Given the description of an element on the screen output the (x, y) to click on. 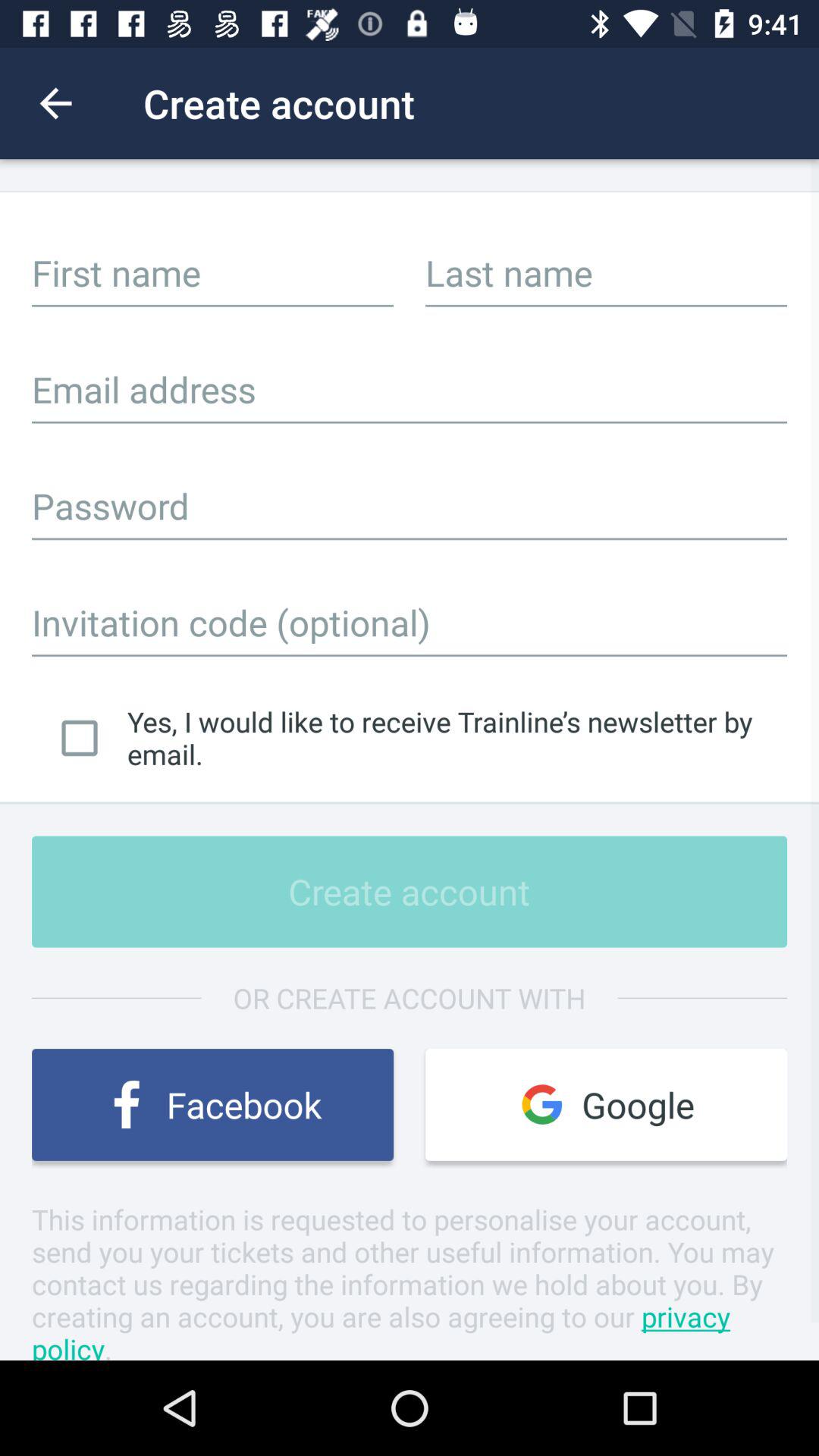
enter last name (606, 272)
